Given the description of an element on the screen output the (x, y) to click on. 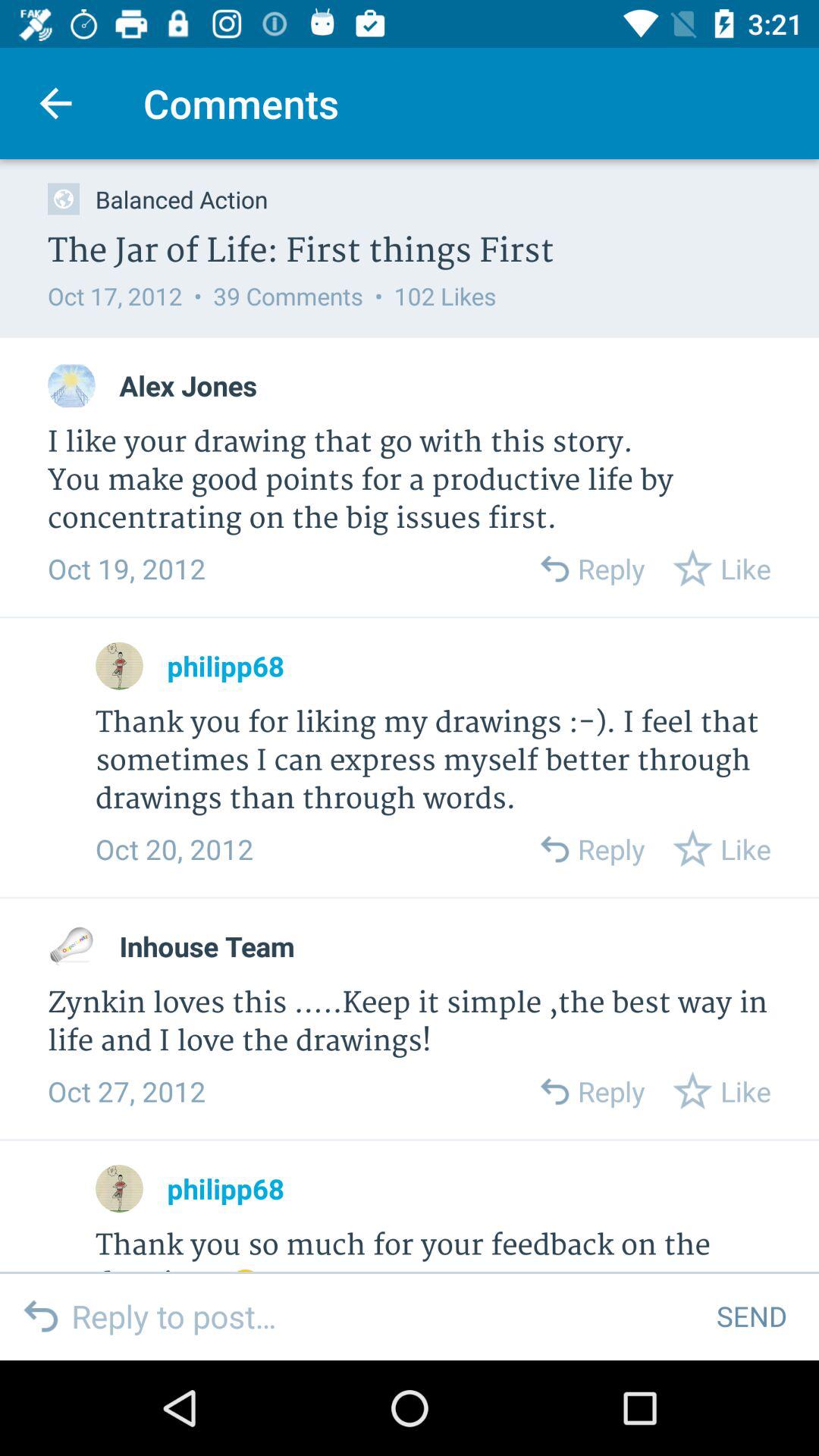
shows mark button (119, 1188)
